Given the description of an element on the screen output the (x, y) to click on. 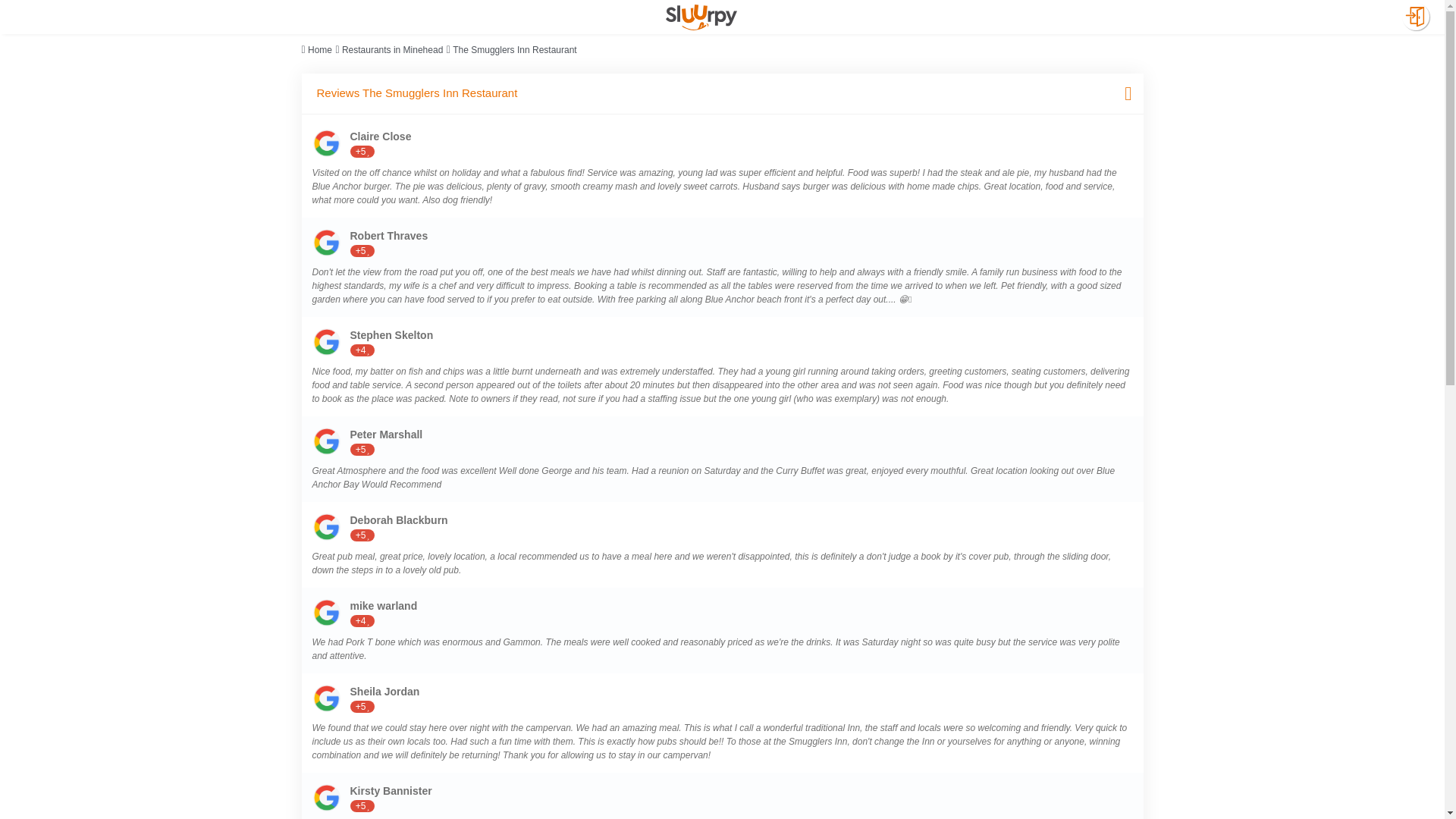
The Smugglers Inn Restaurant (514, 50)
Home (319, 50)
Recensione (326, 697)
Recensione (326, 797)
Recensione (326, 142)
Recensione (326, 242)
Restaurants in Minehead (392, 50)
Recensione (326, 525)
Recensione (326, 340)
Recensione (326, 441)
